Given the description of an element on the screen output the (x, y) to click on. 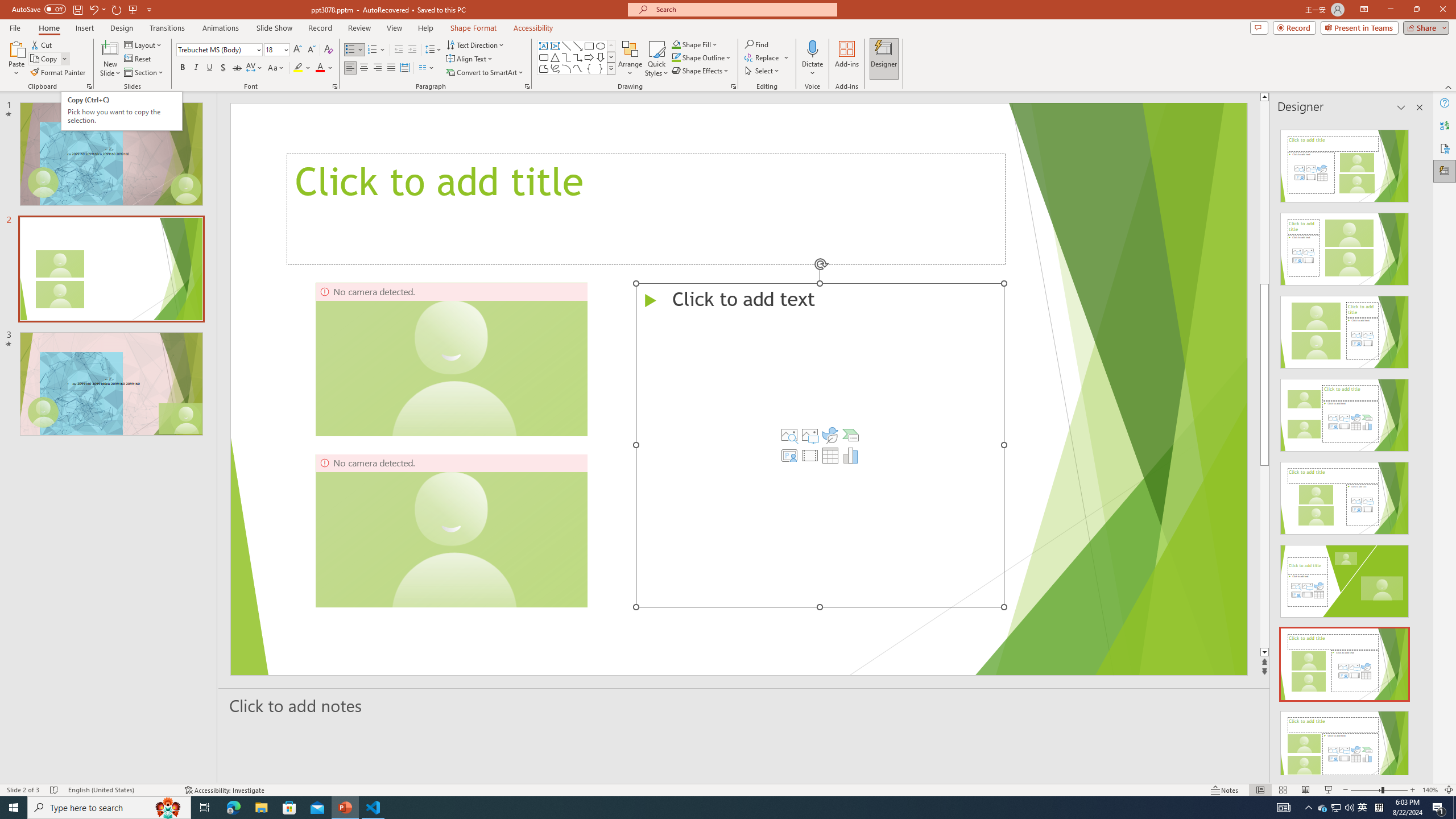
Content Placeholder (819, 445)
